Given the description of an element on the screen output the (x, y) to click on. 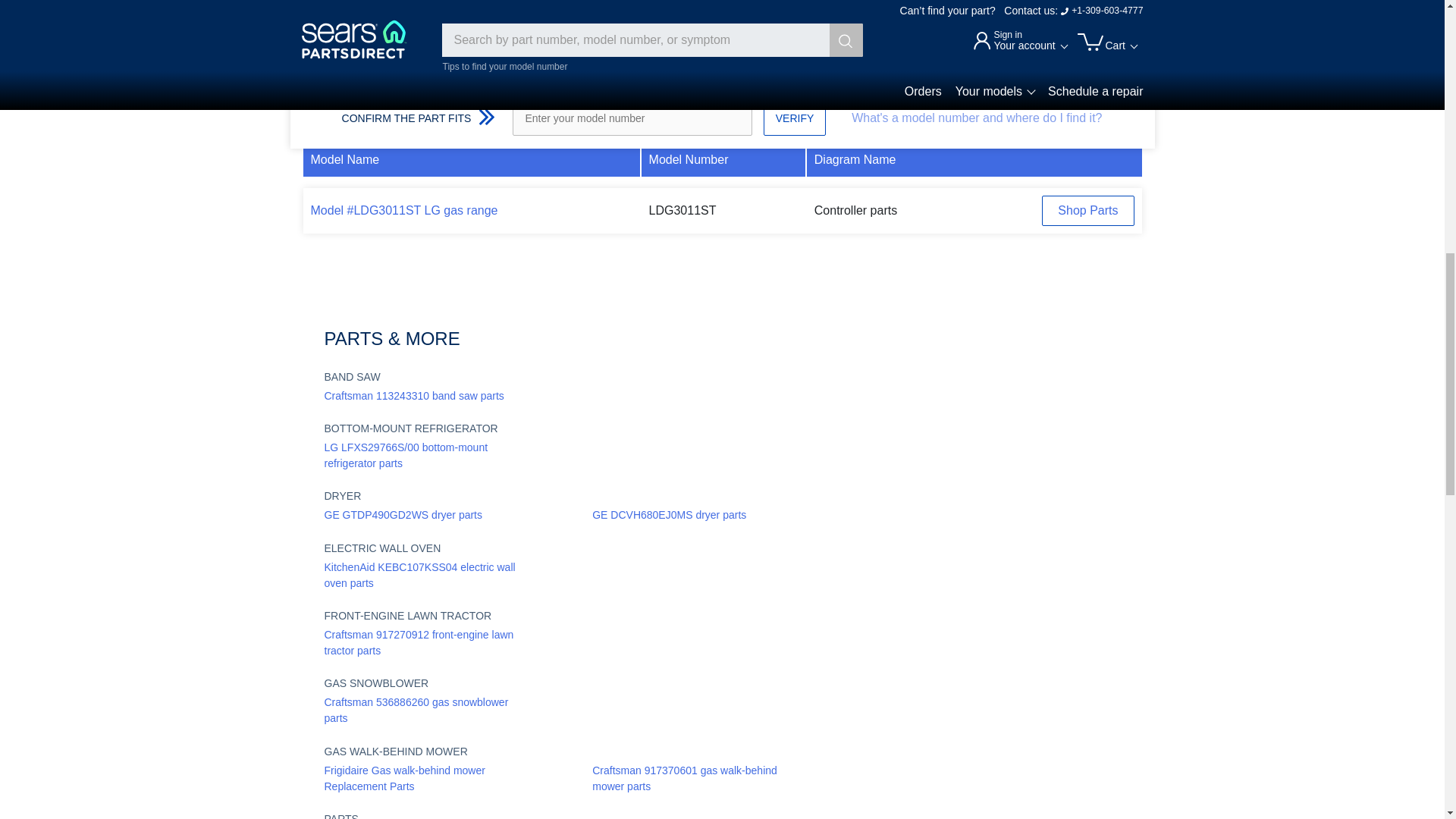
Shop Parts (1088, 210)
KitchenAid KEBC107KSS04 electric wall oven parts (421, 575)
GE GTDP490GD2WS dryer parts (403, 514)
Craftsman 536886260 gas snowblower parts (421, 710)
Craftsman 113243310 band saw parts (413, 396)
Craftsman 917270912 front-engine lawn tractor parts (421, 643)
Frigidaire Gas walk-behind mower Replacement Parts (421, 778)
Craftsman 917370601 gas walk-behind mower parts (689, 778)
GE DCVH680EJ0MS dryer parts (668, 514)
